Given the description of an element on the screen output the (x, y) to click on. 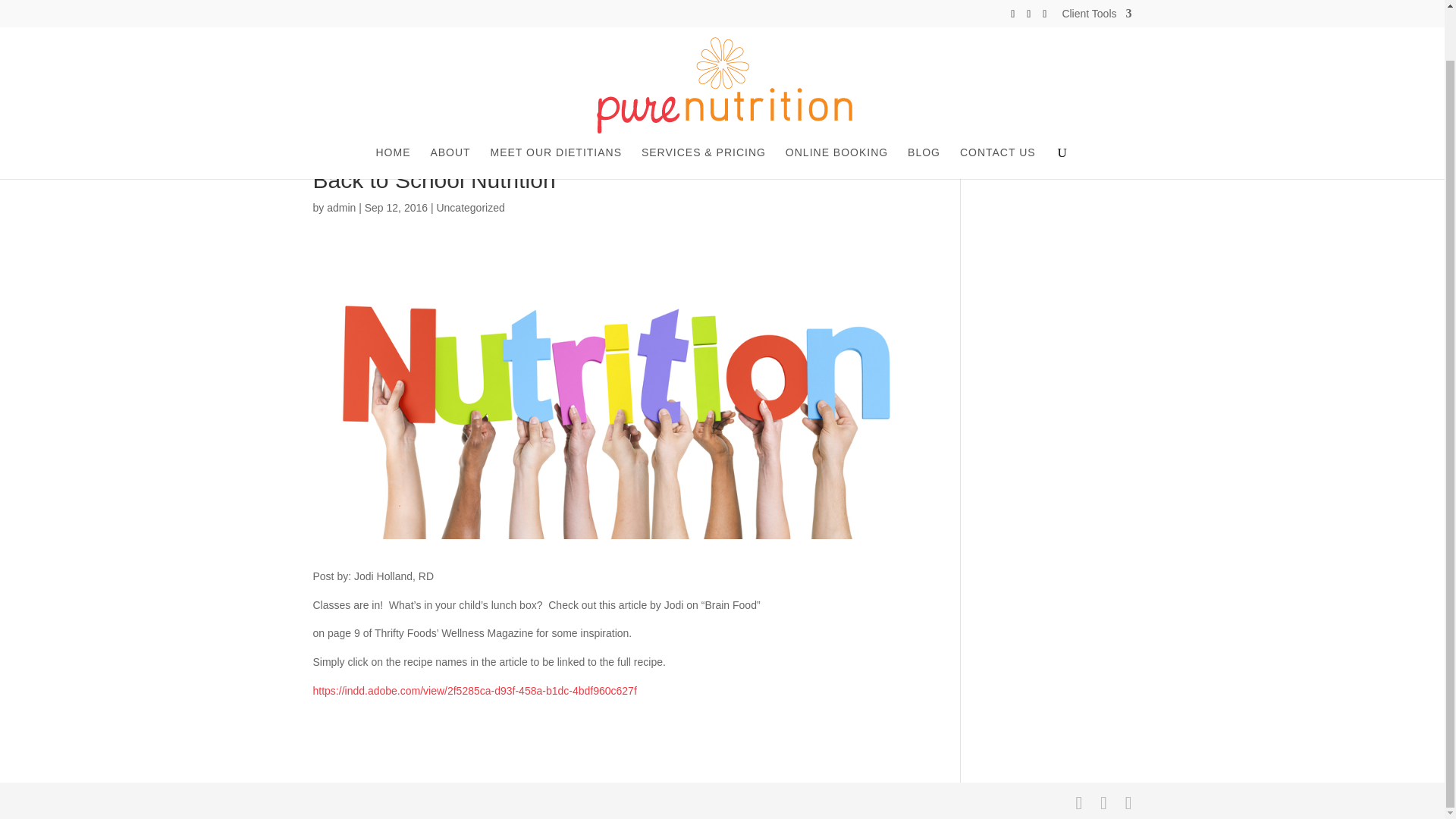
Posts by admin (340, 207)
Uncategorized (469, 207)
HOME (392, 109)
BLOG (923, 109)
ABOUT (449, 109)
ONLINE BOOKING (837, 109)
admin (340, 207)
MEET OUR DIETITIANS (555, 109)
CONTACT US (997, 109)
